Given the description of an element on the screen output the (x, y) to click on. 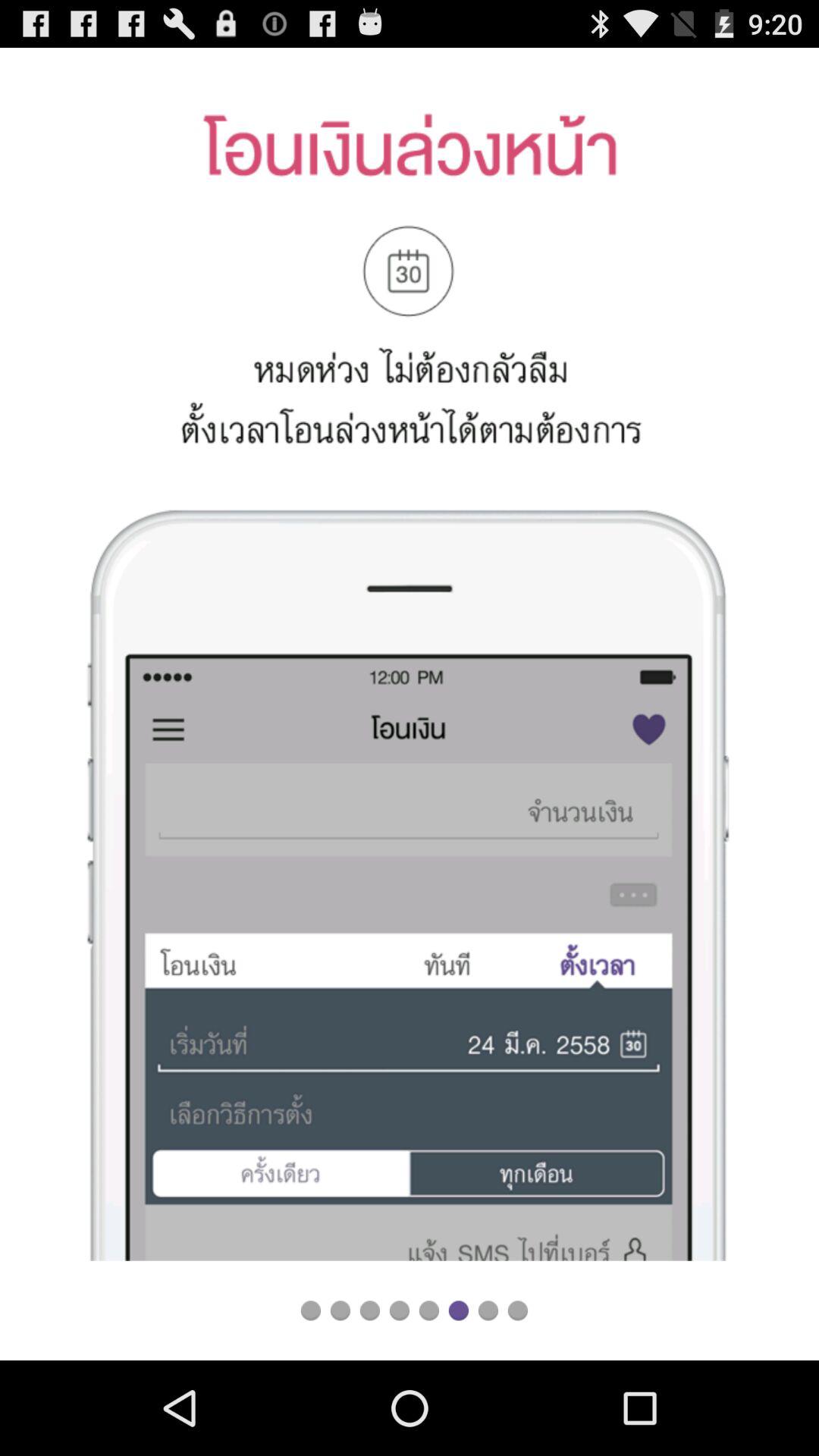
view previous image (369, 1310)
